Given the description of an element on the screen output the (x, y) to click on. 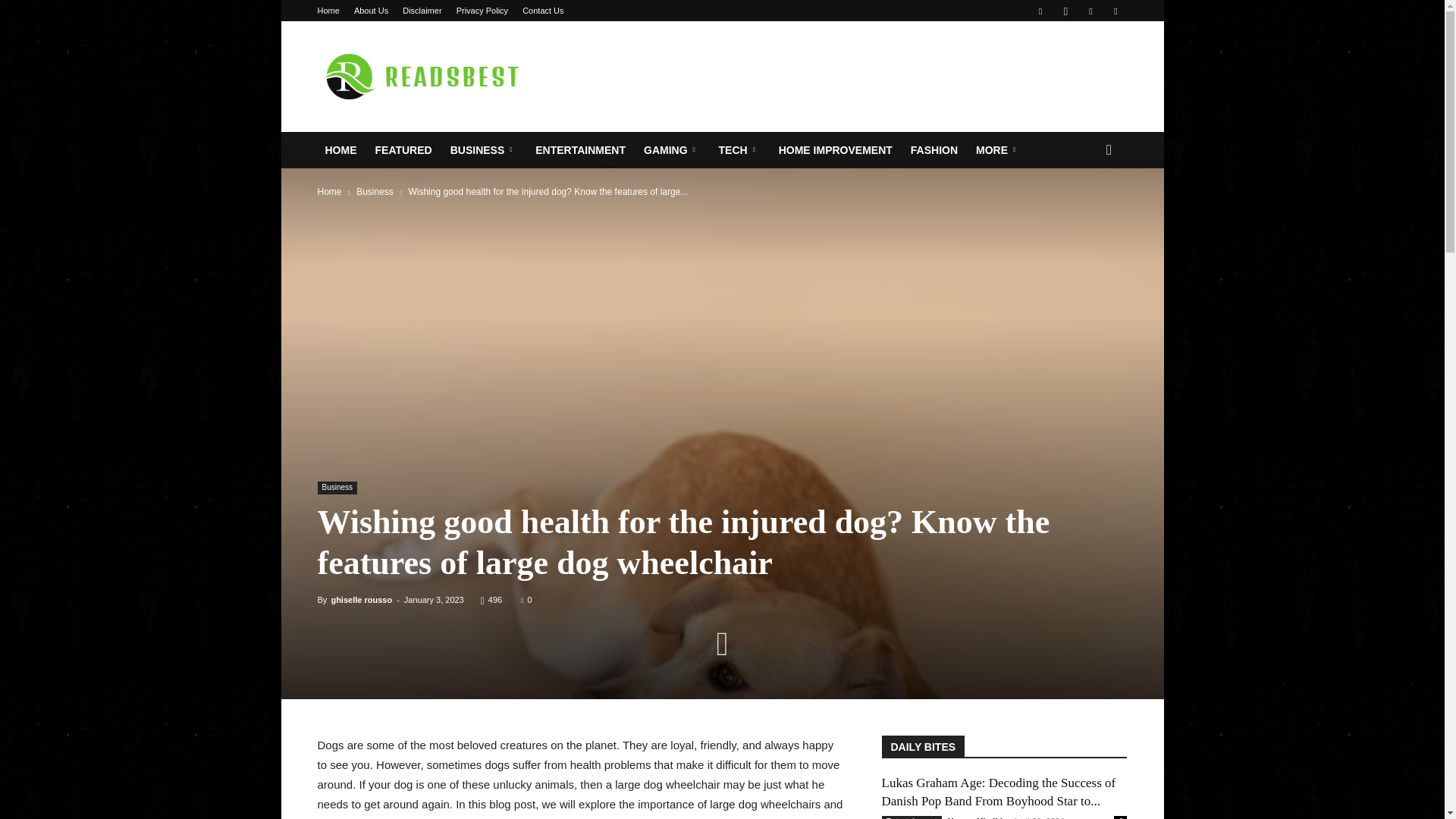
Home (328, 10)
HOME (341, 149)
Facebook (1040, 10)
Disclaimer (422, 10)
Contact Us (542, 10)
Instagram (1065, 10)
View all posts in Business (374, 191)
Twitter (1090, 10)
Youtube (1114, 10)
Privacy Policy (482, 10)
About Us (370, 10)
